Given the description of an element on the screen output the (x, y) to click on. 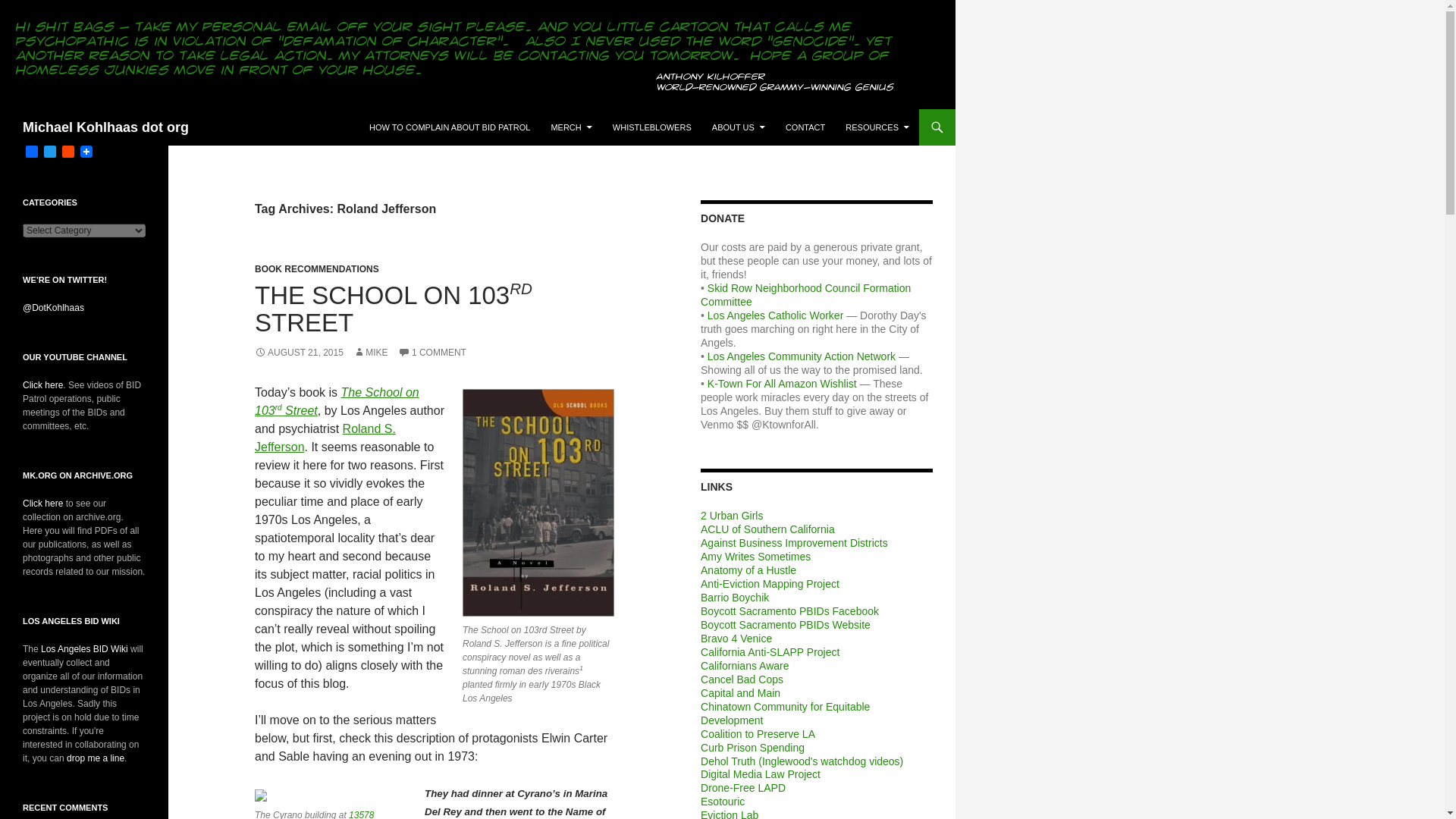
Twitter (49, 152)
WHISTLEBLOWERS (652, 126)
MIKE (370, 352)
Facebook (31, 152)
Roland S. Jefferson (325, 437)
RESOURCES (876, 126)
THE SCHOOL ON 103RD STREET (393, 308)
1 COMMENT (431, 352)
HOW TO COMPLAIN ABOUT BID PATROL (448, 126)
ABOUT US (738, 126)
CONTACT (805, 126)
BOOK RECOMMENDATIONS (316, 268)
AUGUST 21, 2015 (298, 352)
